Given the description of an element on the screen output the (x, y) to click on. 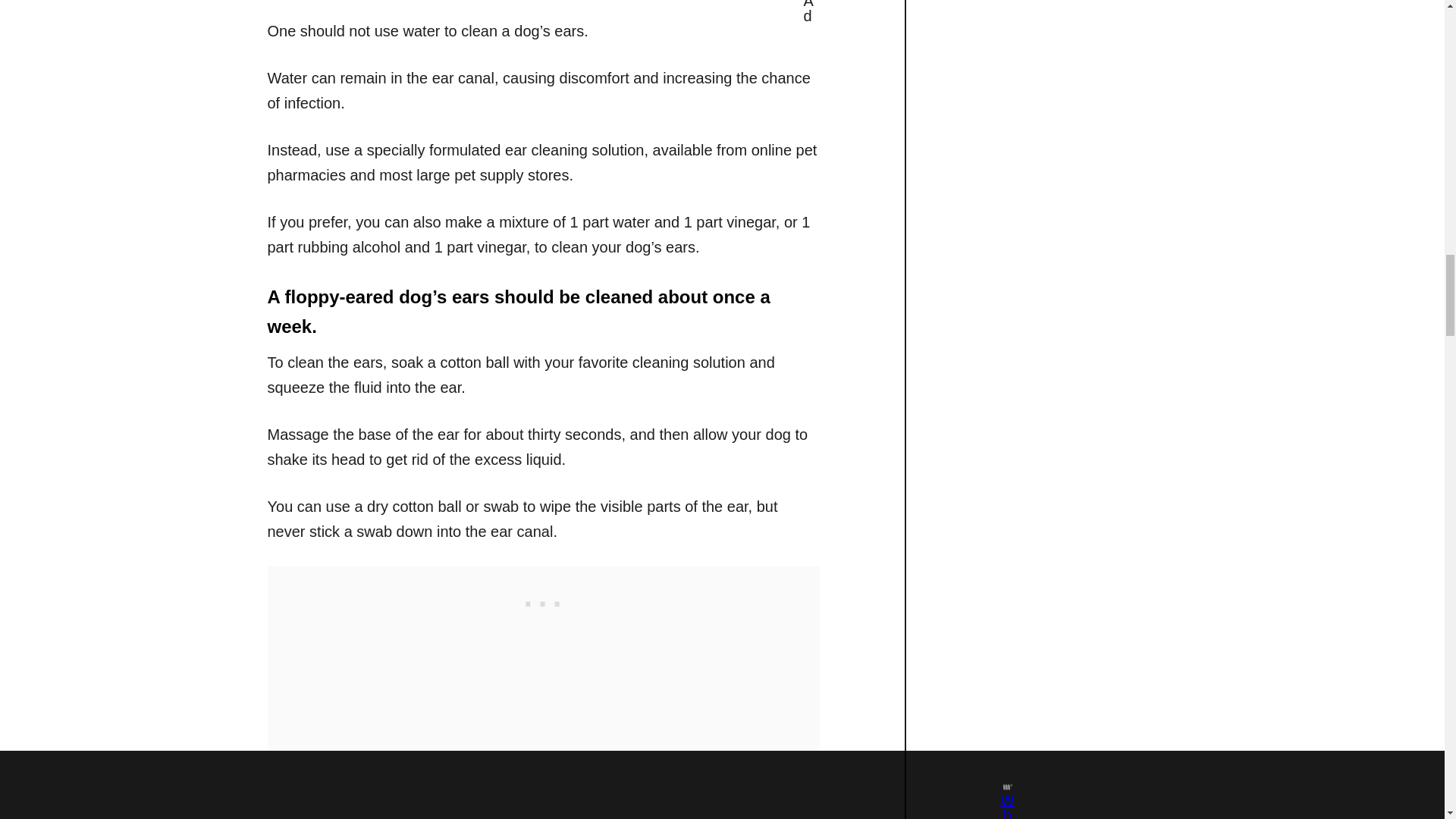
3rd party ad content (542, 600)
